Given the description of an element on the screen output the (x, y) to click on. 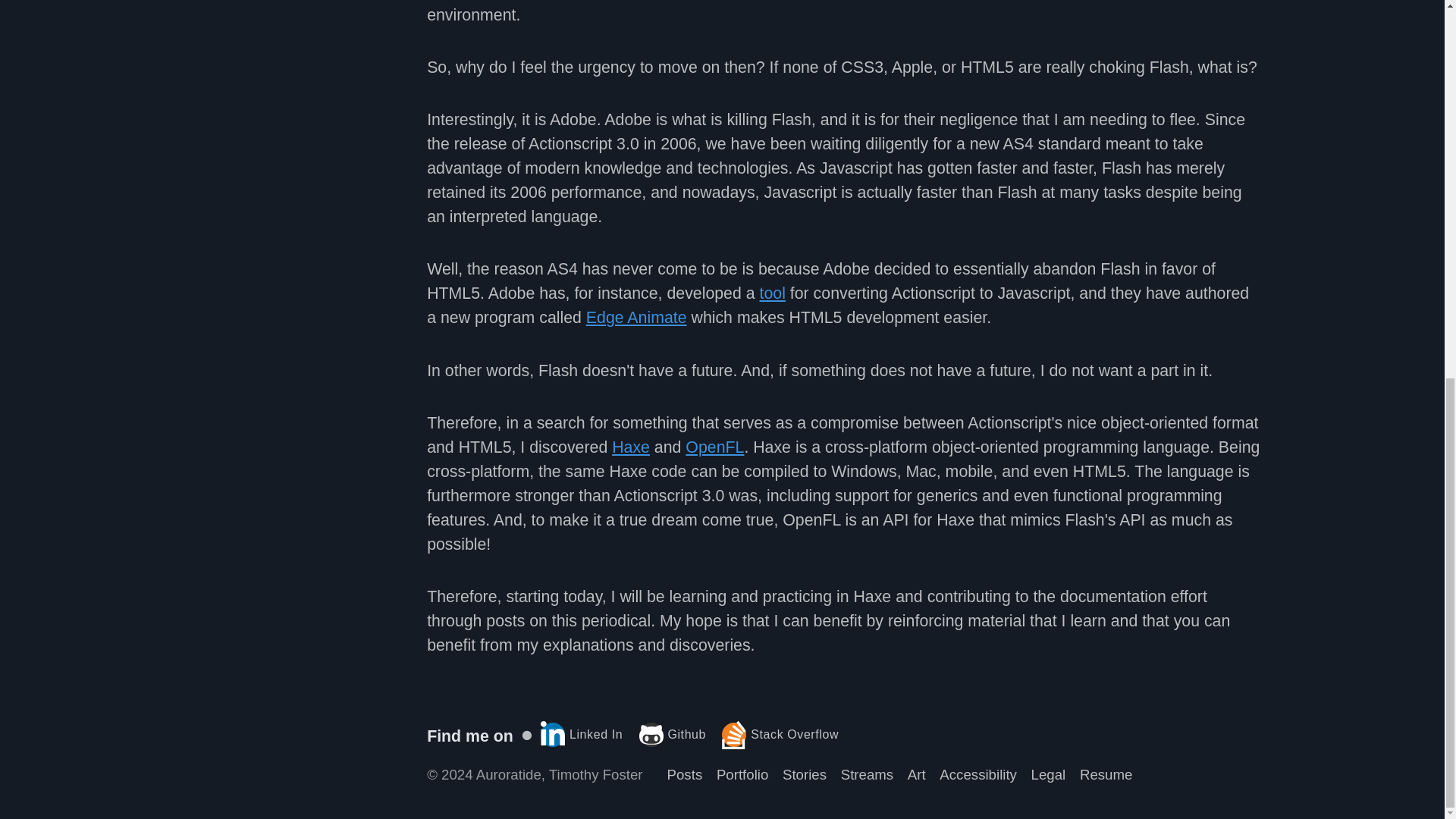
Haxe (630, 447)
Resume (1106, 774)
Stack Overflow (780, 734)
Edge Animate (636, 317)
tool (773, 293)
Legal (1047, 774)
OpenFL (714, 447)
Posts (684, 774)
Accessibility (977, 774)
Stories (805, 774)
Art (916, 774)
Linked In (581, 734)
Github (672, 734)
Streams (867, 774)
Portfolio (742, 774)
